Given the description of an element on the screen output the (x, y) to click on. 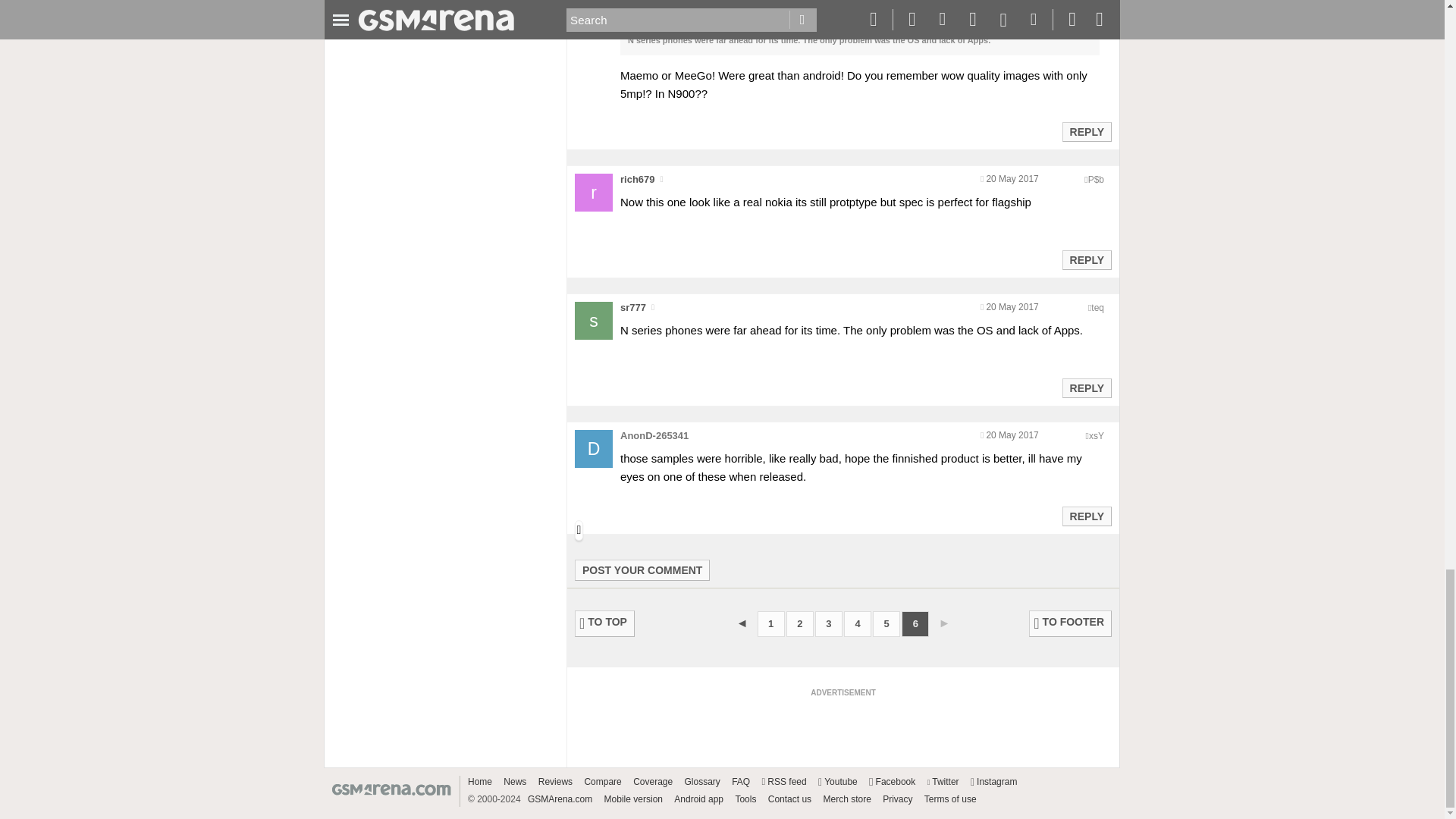
TO TOP (604, 623)
